Given the description of an element on the screen output the (x, y) to click on. 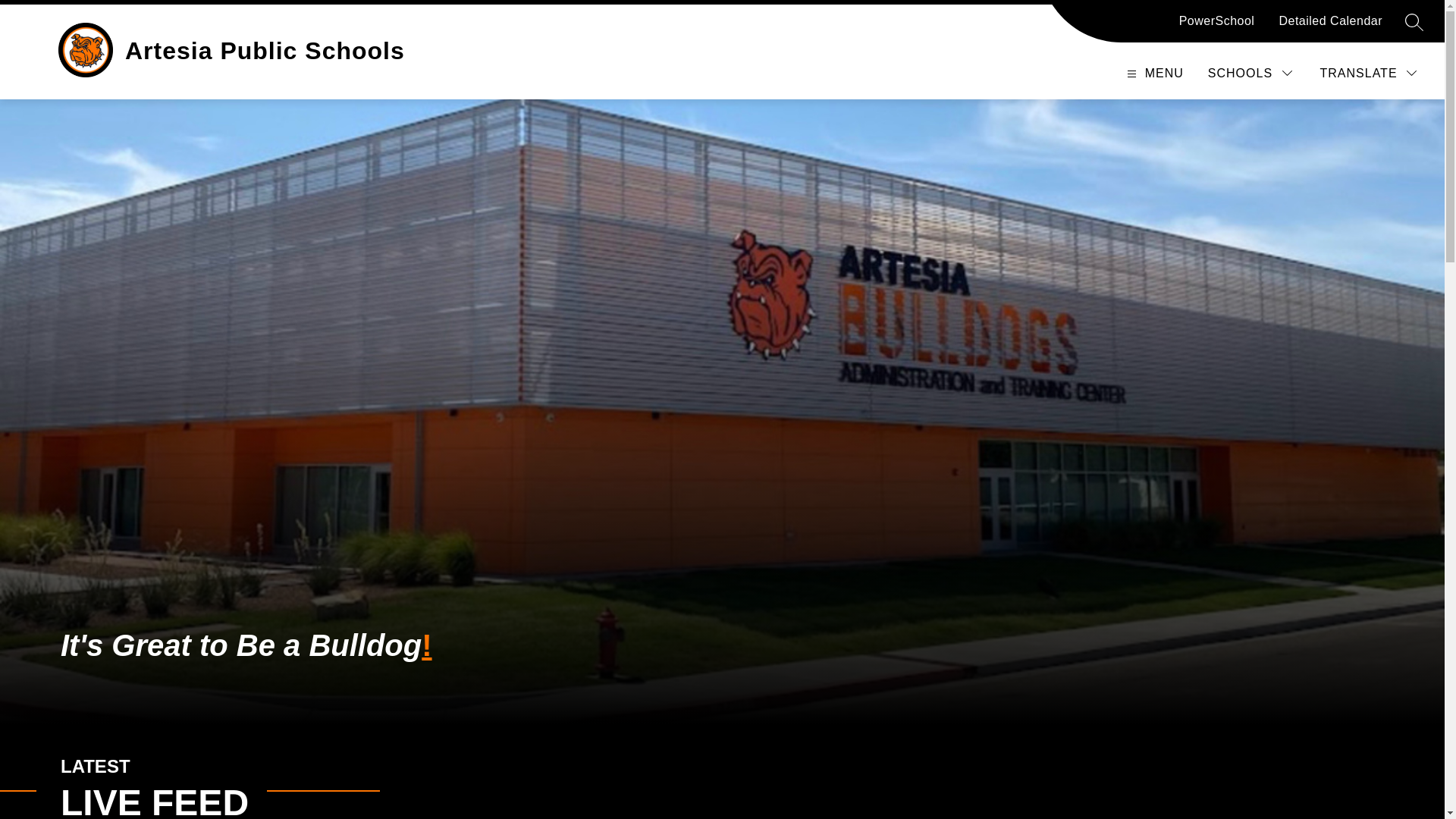
MENU (1152, 72)
TRANSLATE (1370, 72)
PowerSchool (1217, 27)
Detailed Calendar (1329, 27)
SCHOOLS (1251, 72)
